Given the description of an element on the screen output the (x, y) to click on. 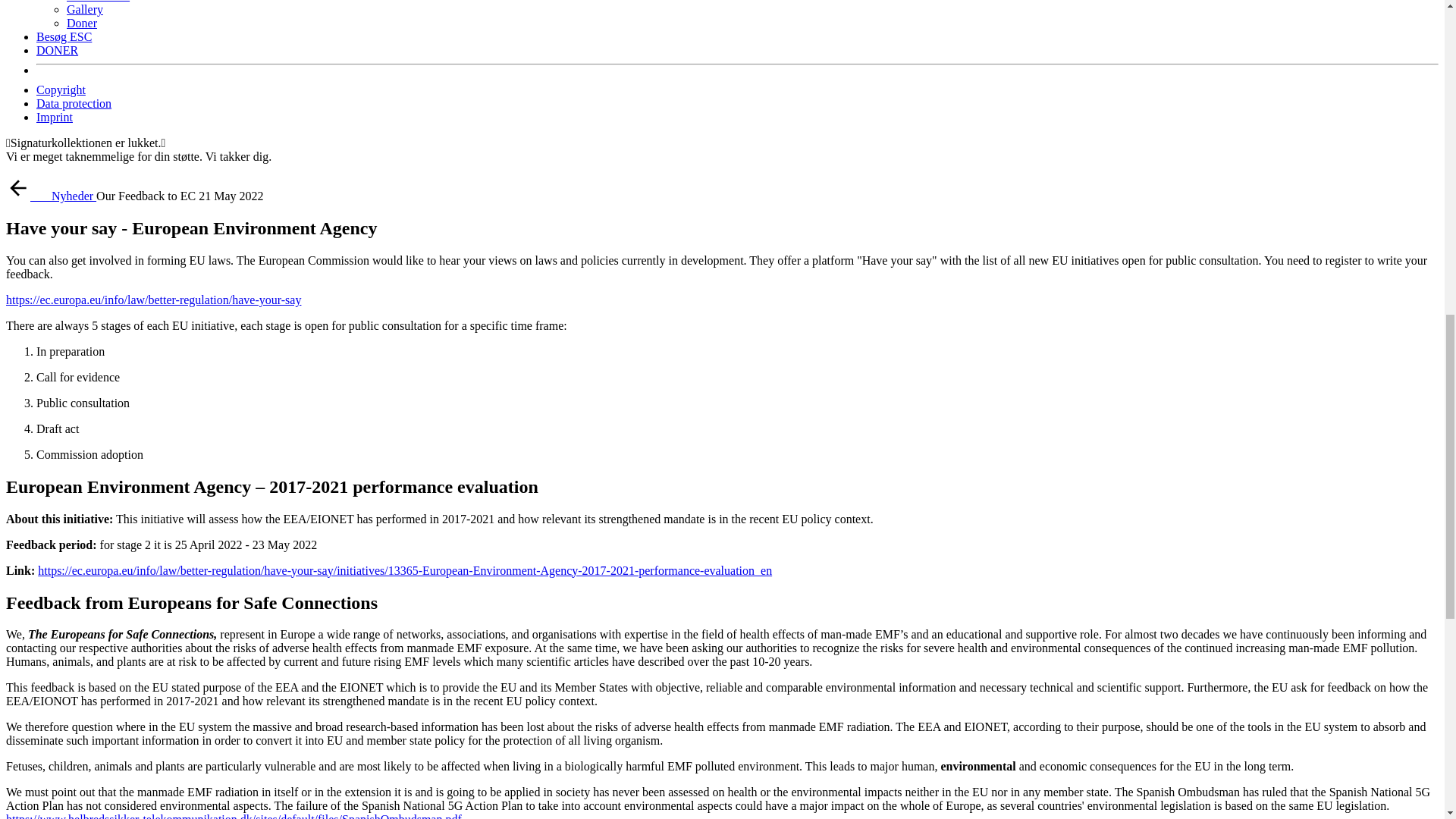
Data protection (74, 103)
published (230, 195)
Copyright (60, 89)
Imprint (54, 116)
